Given the description of an element on the screen output the (x, y) to click on. 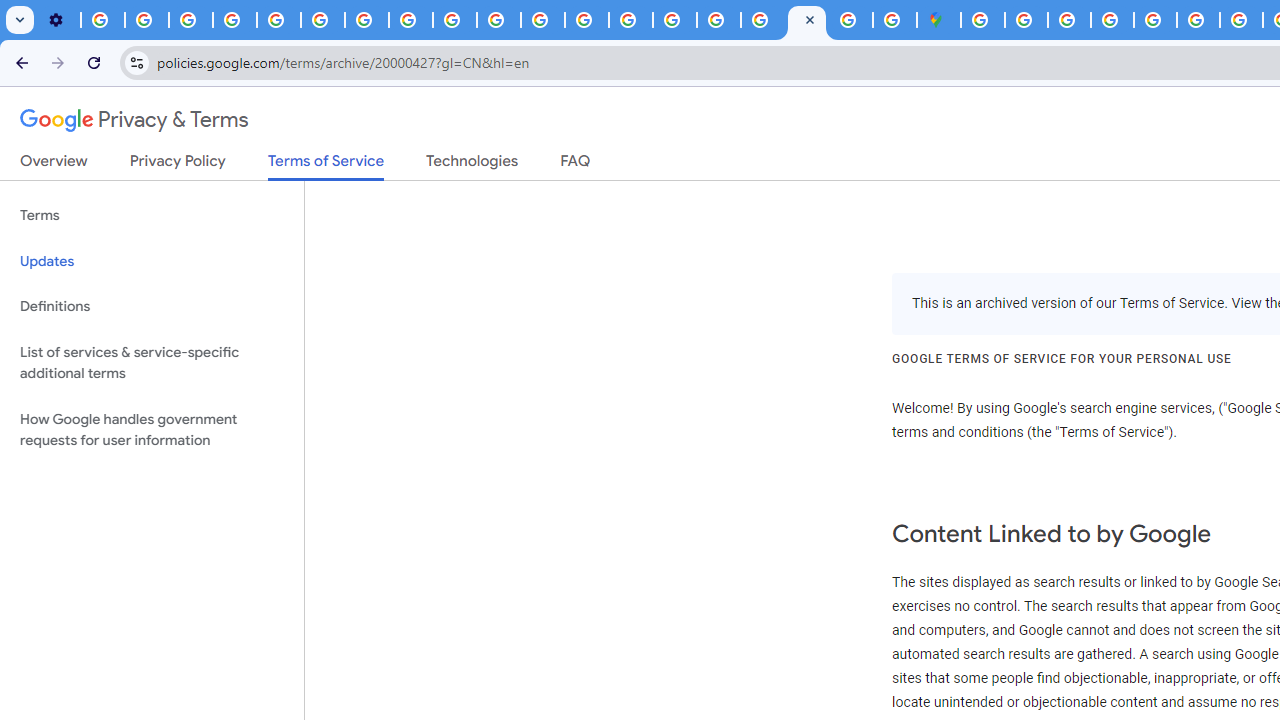
YouTube (322, 20)
https://scholar.google.com/ (542, 20)
Privacy Checkup (498, 20)
Settings - Customize profile (58, 20)
